Given the description of an element on the screen output the (x, y) to click on. 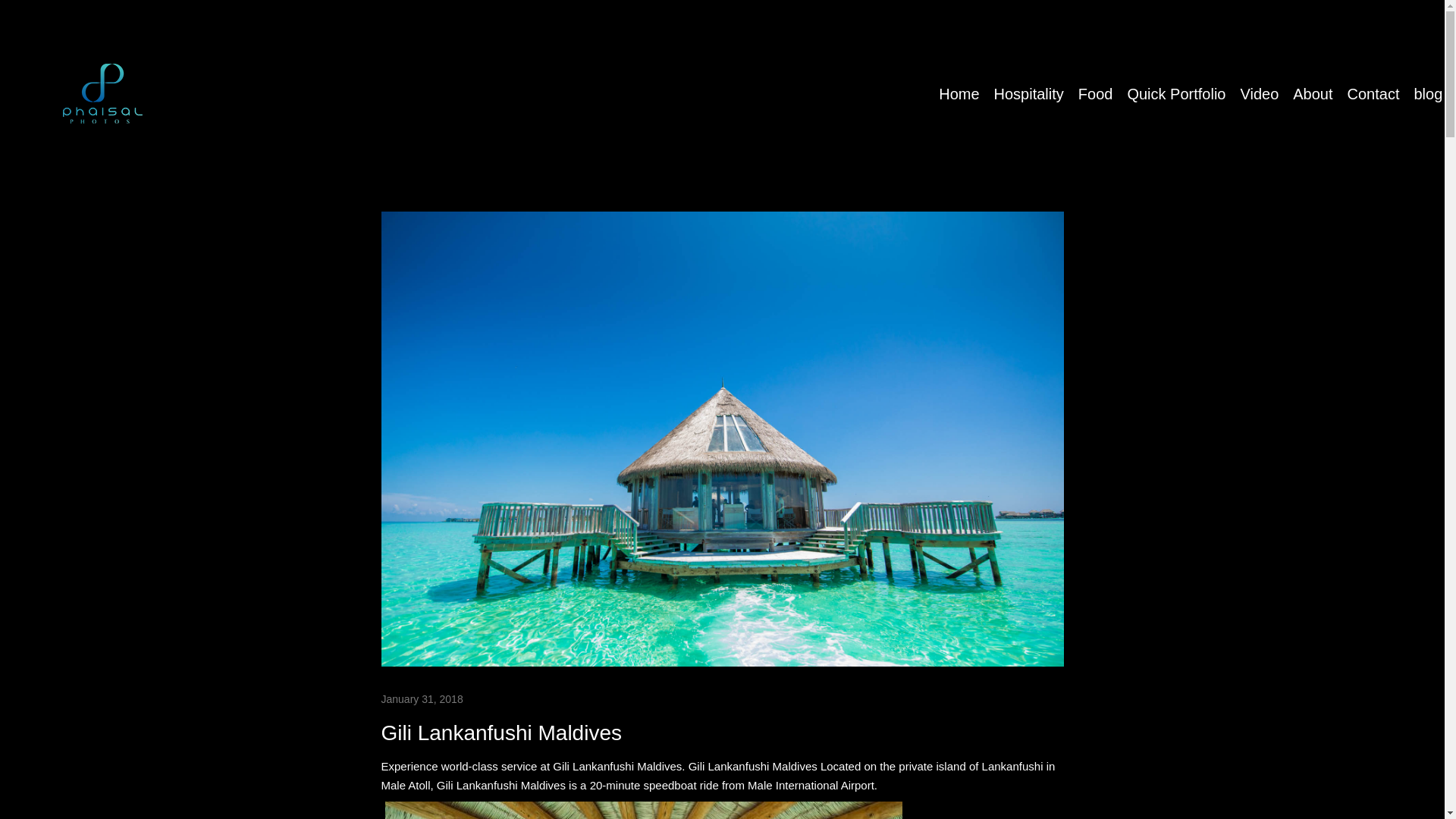
Home (958, 80)
Quick Portfolio (1175, 85)
Hospitality (1029, 82)
Contact (1373, 90)
Food (1095, 85)
About (1312, 89)
Video (1259, 88)
blog (1427, 91)
Gili Lankanfushi Maldives (500, 732)
